Given the description of an element on the screen output the (x, y) to click on. 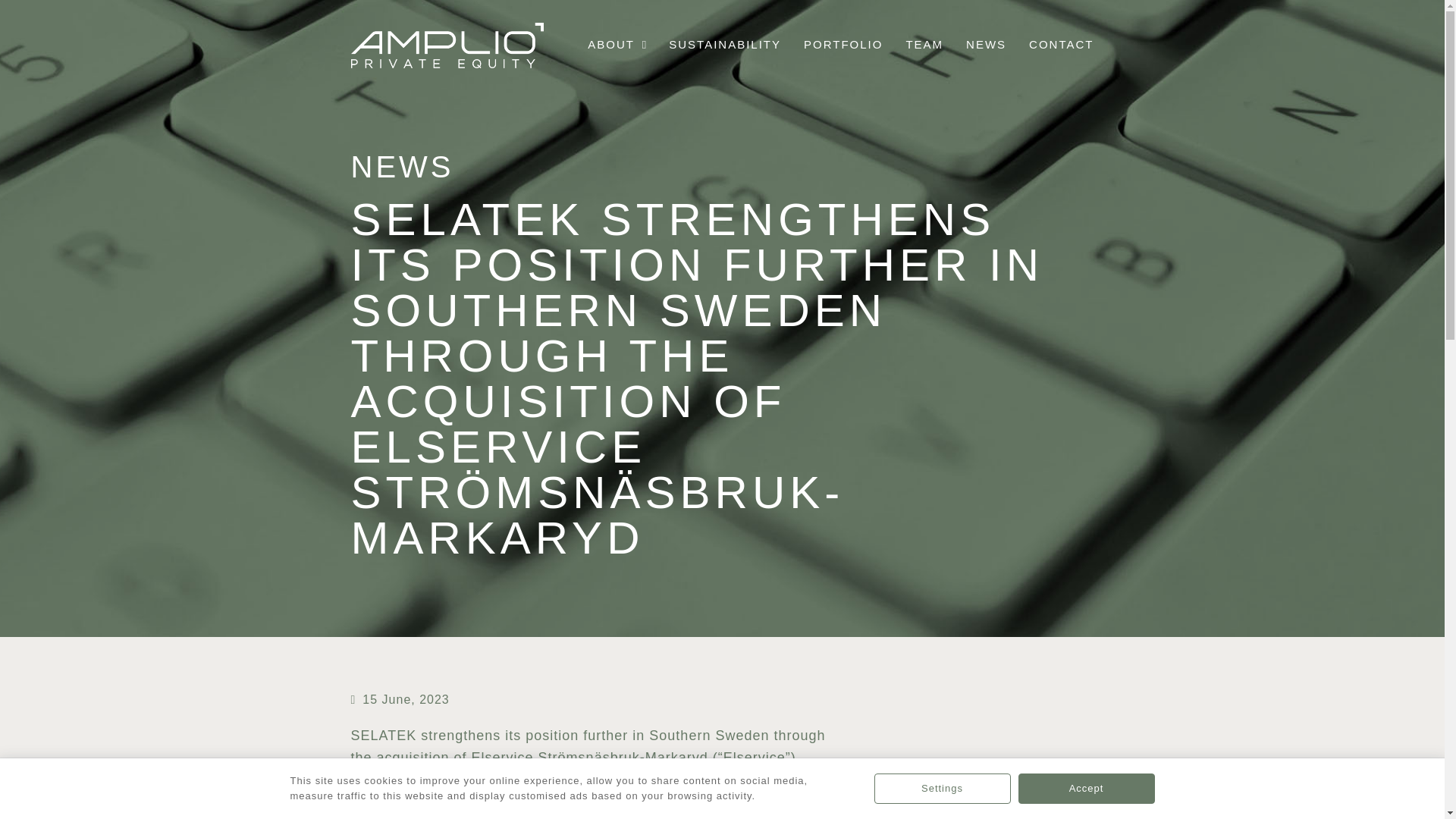
NEWS (401, 166)
NEWS (986, 45)
SUSTAINABILITY (725, 45)
ABOUT (617, 45)
TEAM (924, 45)
CONTACT (1061, 45)
PORTFOLIO (842, 45)
